Given the description of an element on the screen output the (x, y) to click on. 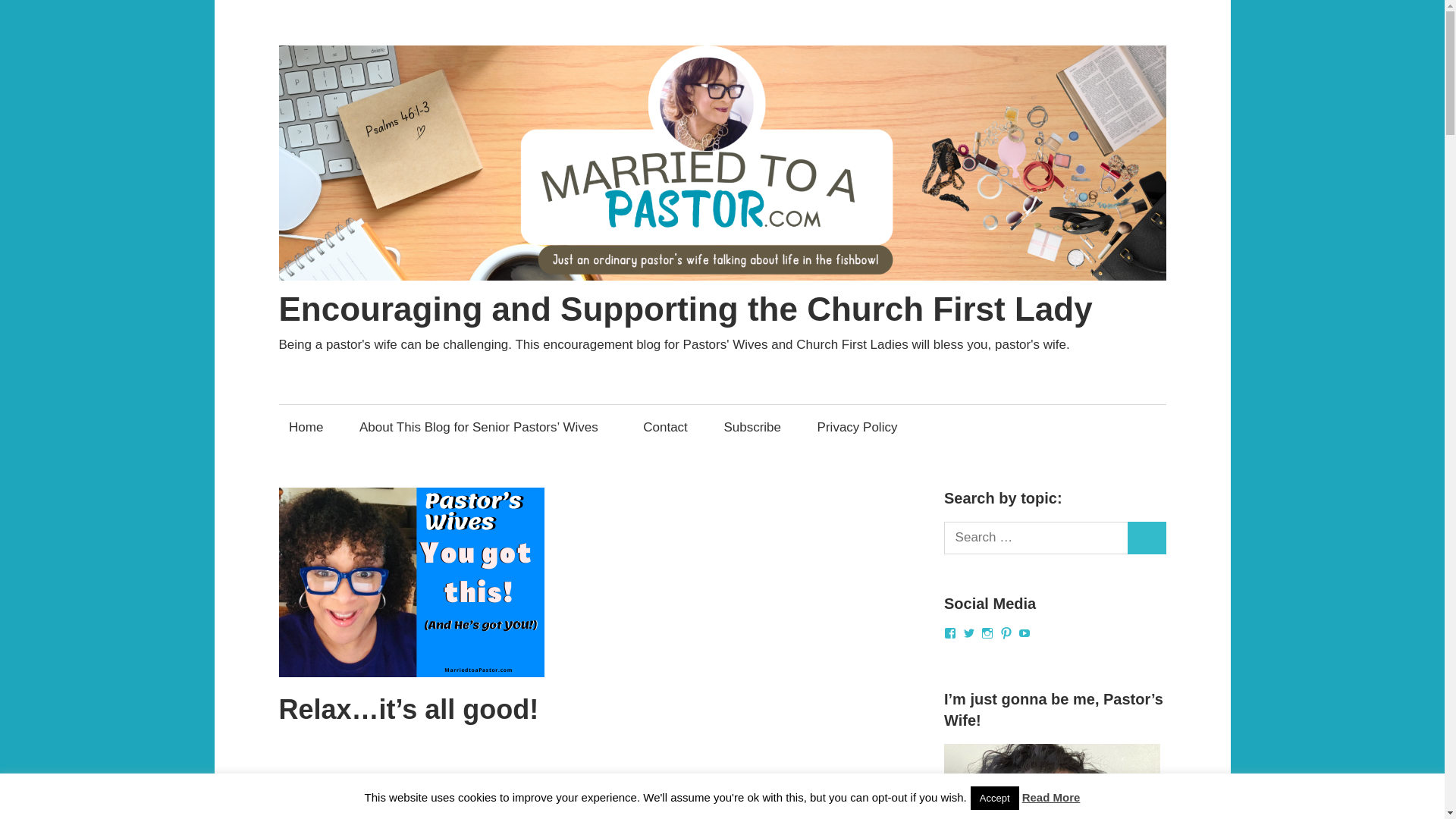
Home (306, 426)
Privacy Policy (856, 426)
Encouraging and Supporting the Church First Lady (686, 308)
Subscribe (752, 426)
Contact (665, 426)
